Given the description of an element on the screen output the (x, y) to click on. 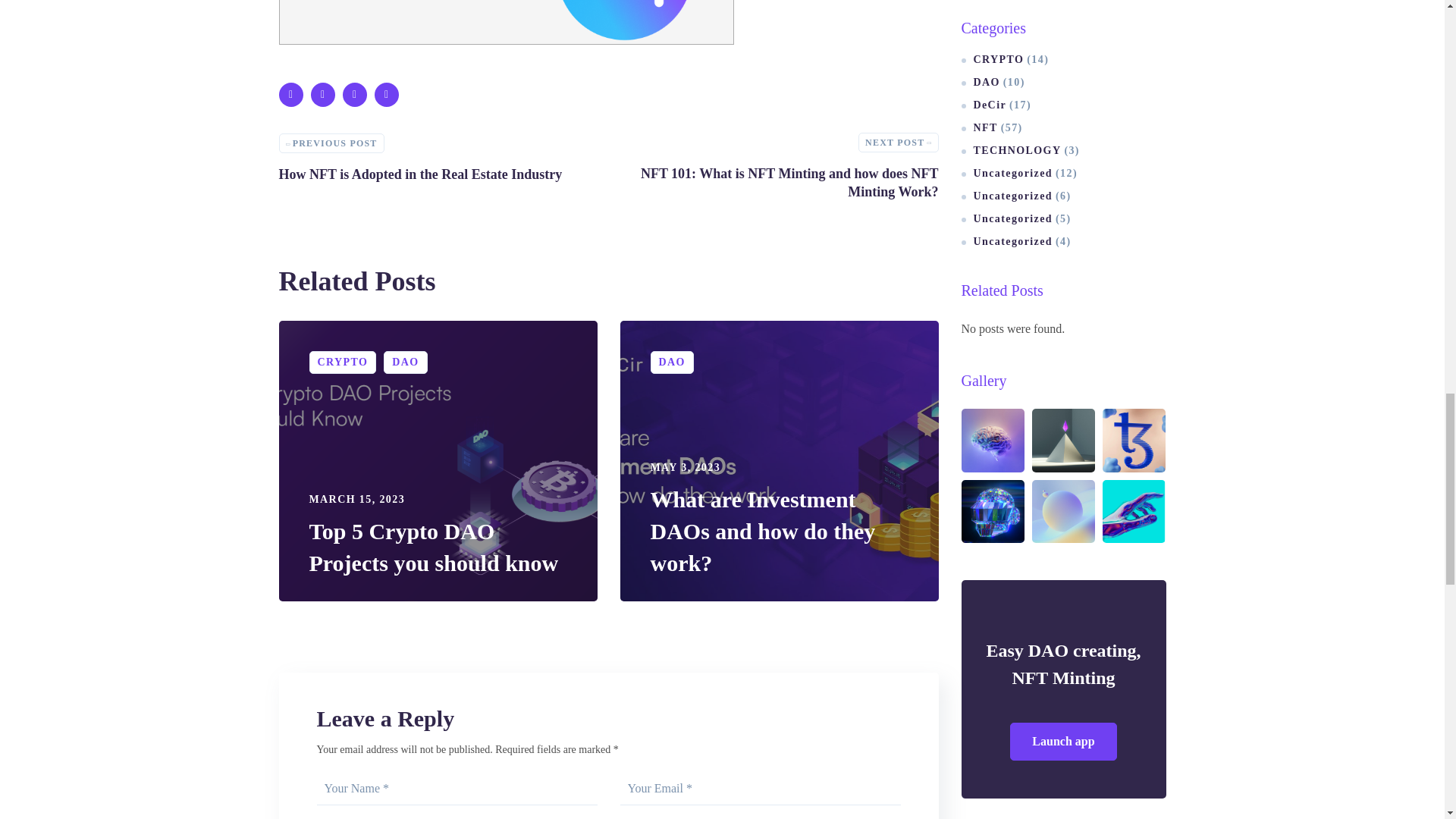
How NFT is Adopted in the Real Estate Industry (437, 156)
NFT 101: What is NFT Minting and how does NFT Minting Work? (437, 156)
